Given the description of an element on the screen output the (x, y) to click on. 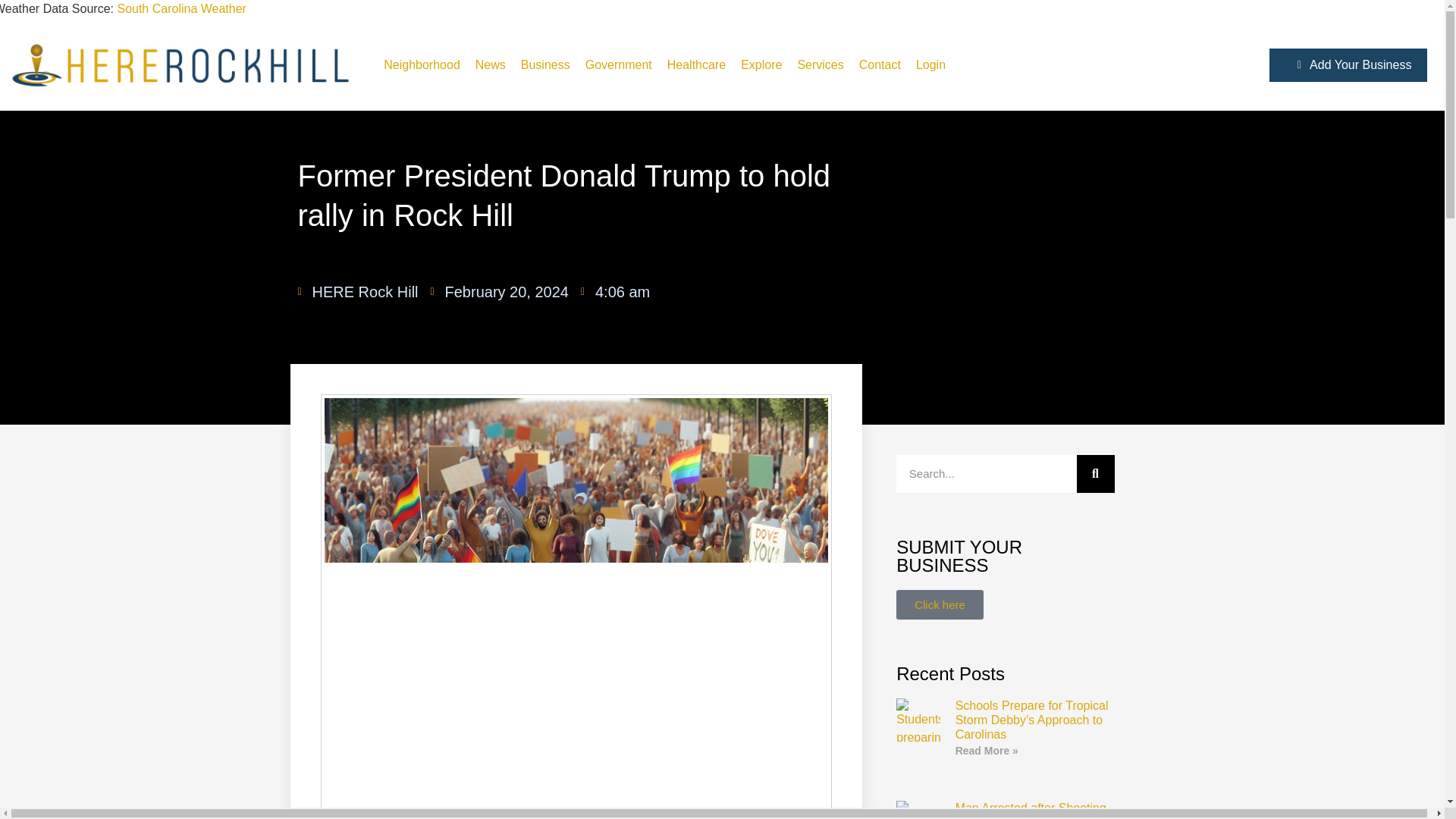
Services (820, 64)
South Carolina Weather (181, 8)
Neighborhood (422, 64)
Business (545, 64)
News (490, 64)
Explore (760, 64)
Healthcare (696, 64)
Government (618, 64)
